Given the description of an element on the screen output the (x, y) to click on. 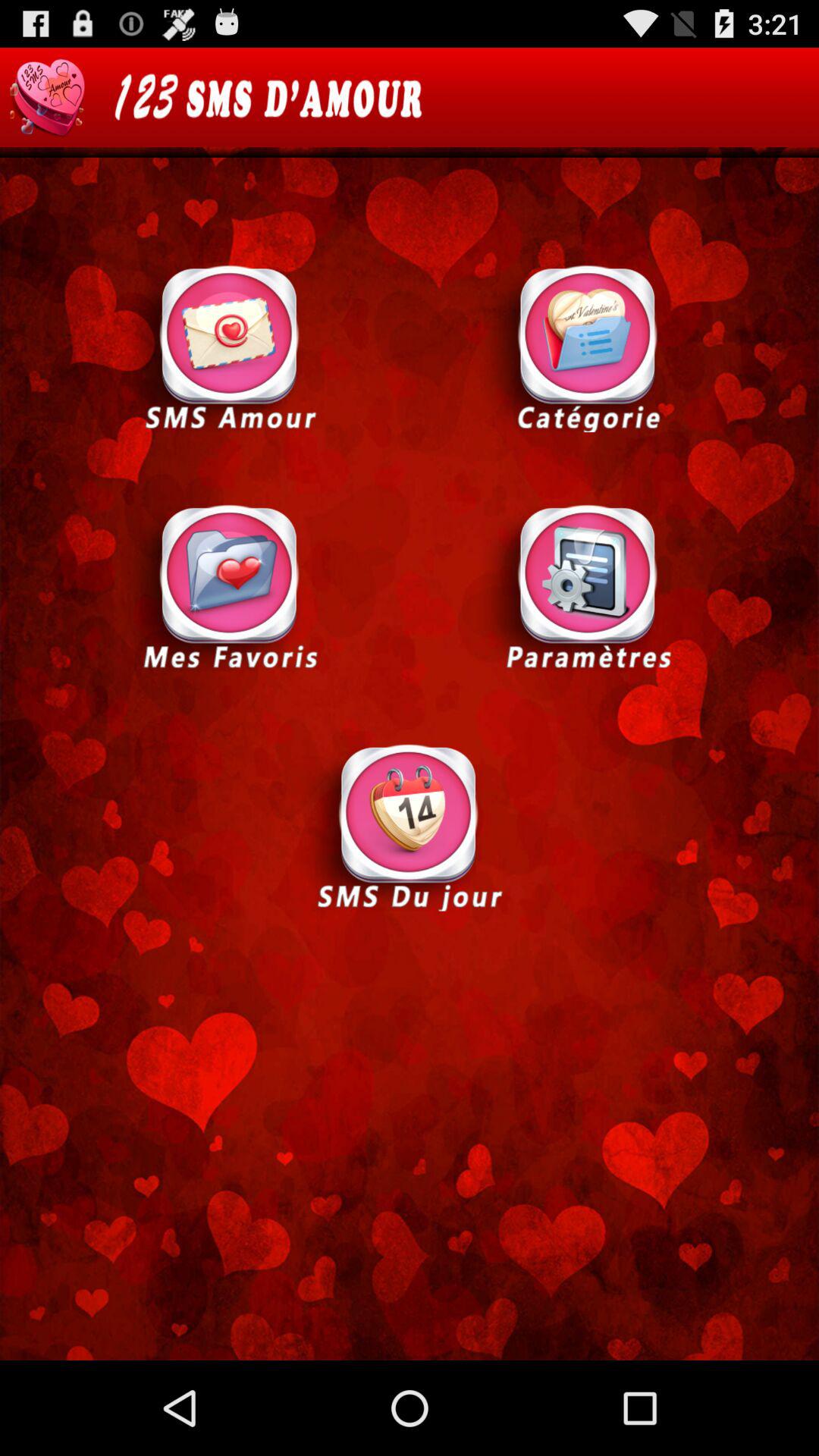
selection option (587, 347)
